Given the description of an element on the screen output the (x, y) to click on. 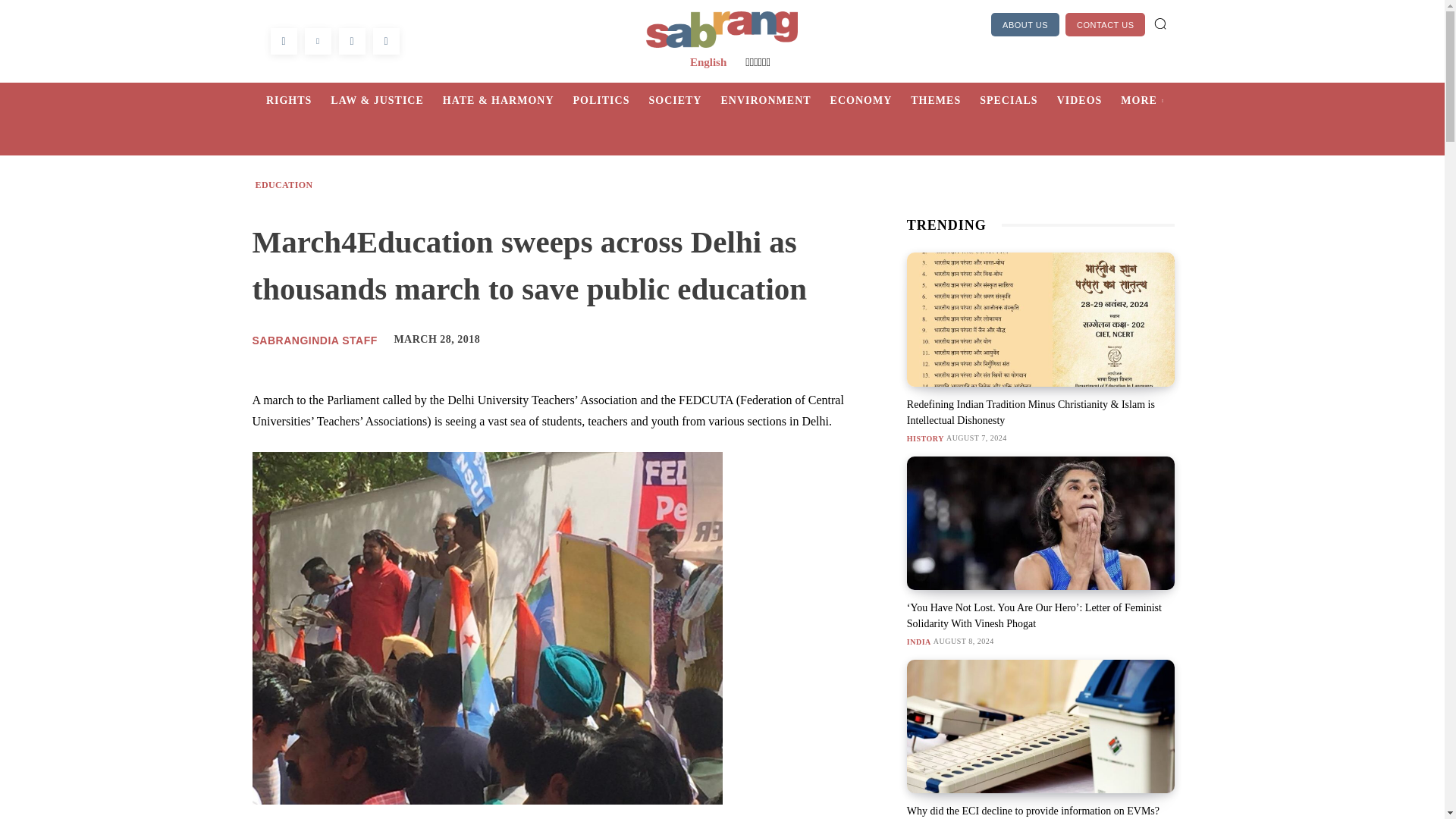
English (708, 61)
WhatsApp (351, 40)
Twitter (317, 40)
ECONOMY (870, 100)
SOCIETY (683, 100)
POLITICS (611, 100)
RIGHTS (298, 100)
THEMES (945, 100)
Youtube (385, 40)
ABOUT US (1025, 24)
